Given the description of an element on the screen output the (x, y) to click on. 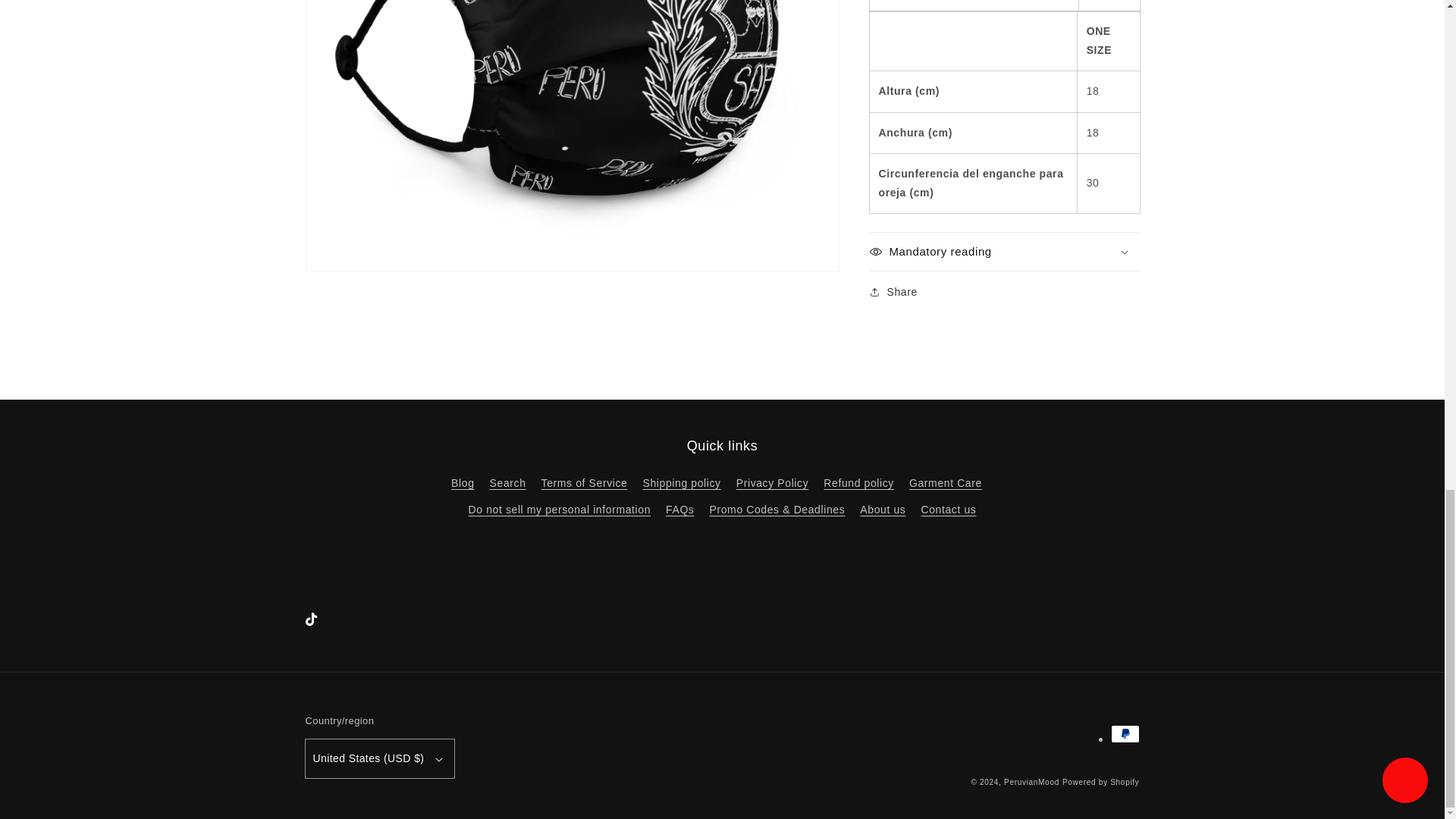
PayPal (1123, 733)
